Given the description of an element on the screen output the (x, y) to click on. 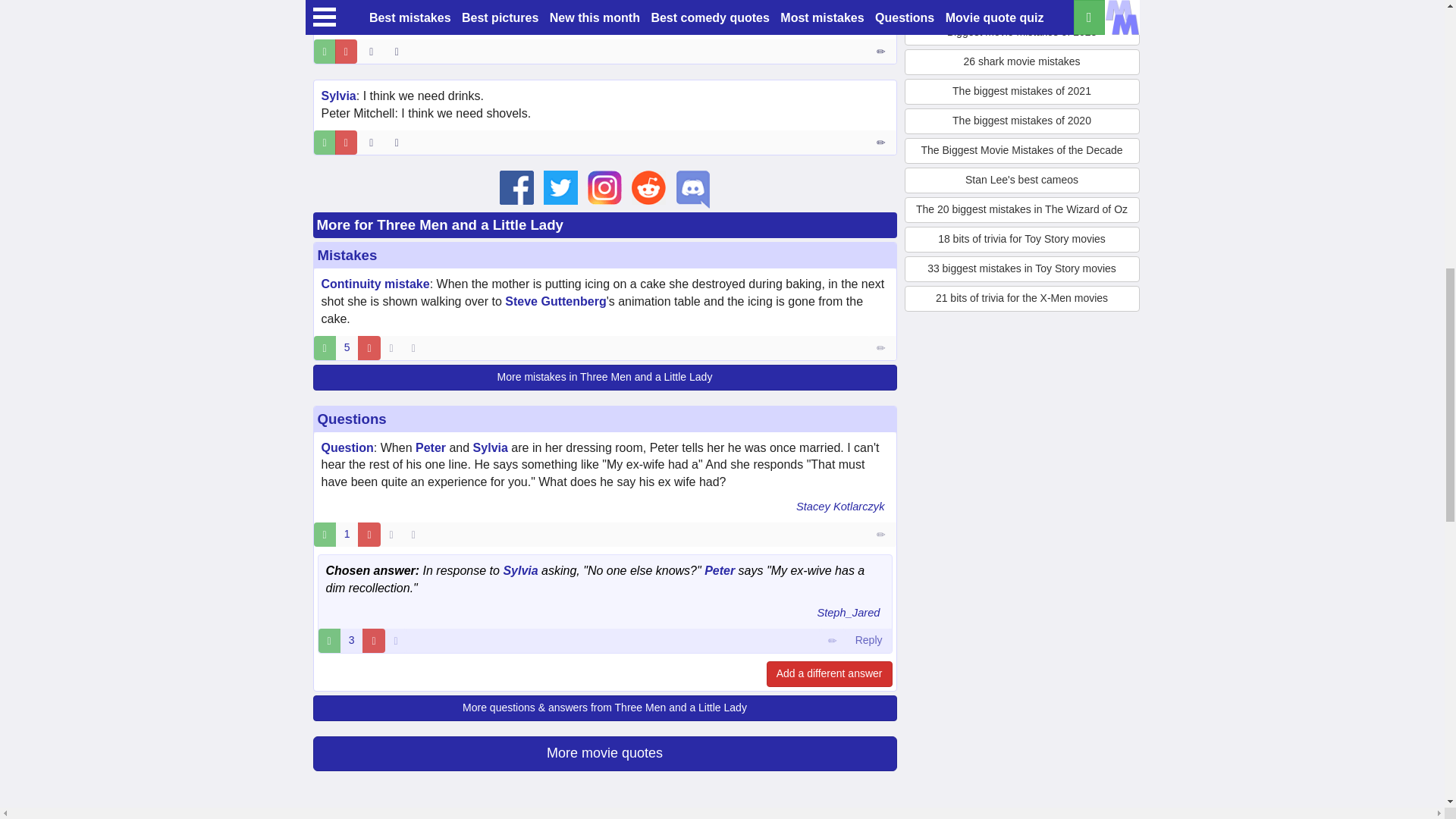
I dislike this (345, 51)
Entry 267699 (881, 51)
I like this (325, 51)
Share this entry (399, 51)
